Given the description of an element on the screen output the (x, y) to click on. 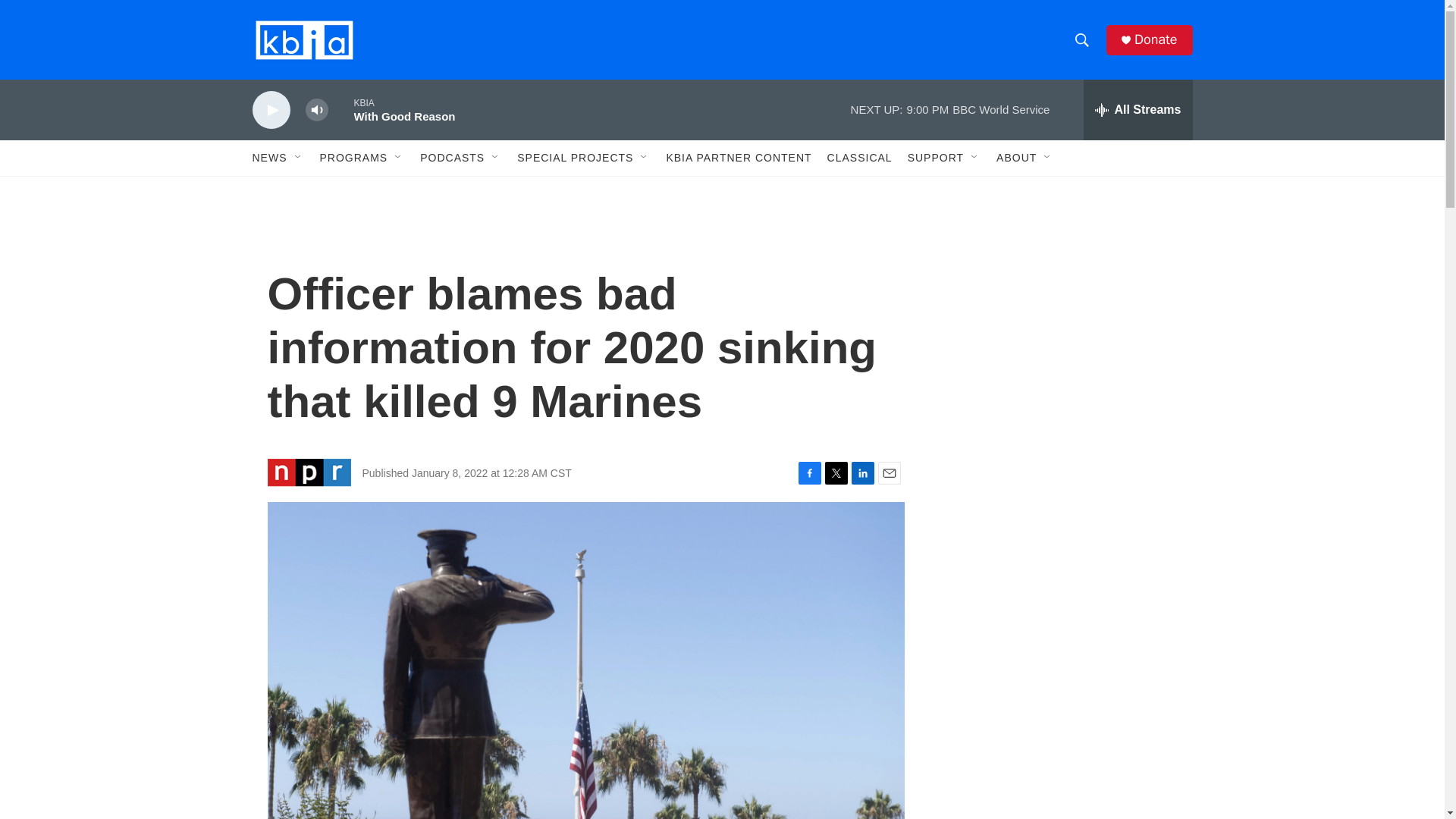
3rd party ad content (1062, 740)
3rd party ad content (1062, 536)
3rd party ad content (1062, 316)
